Given the description of an element on the screen output the (x, y) to click on. 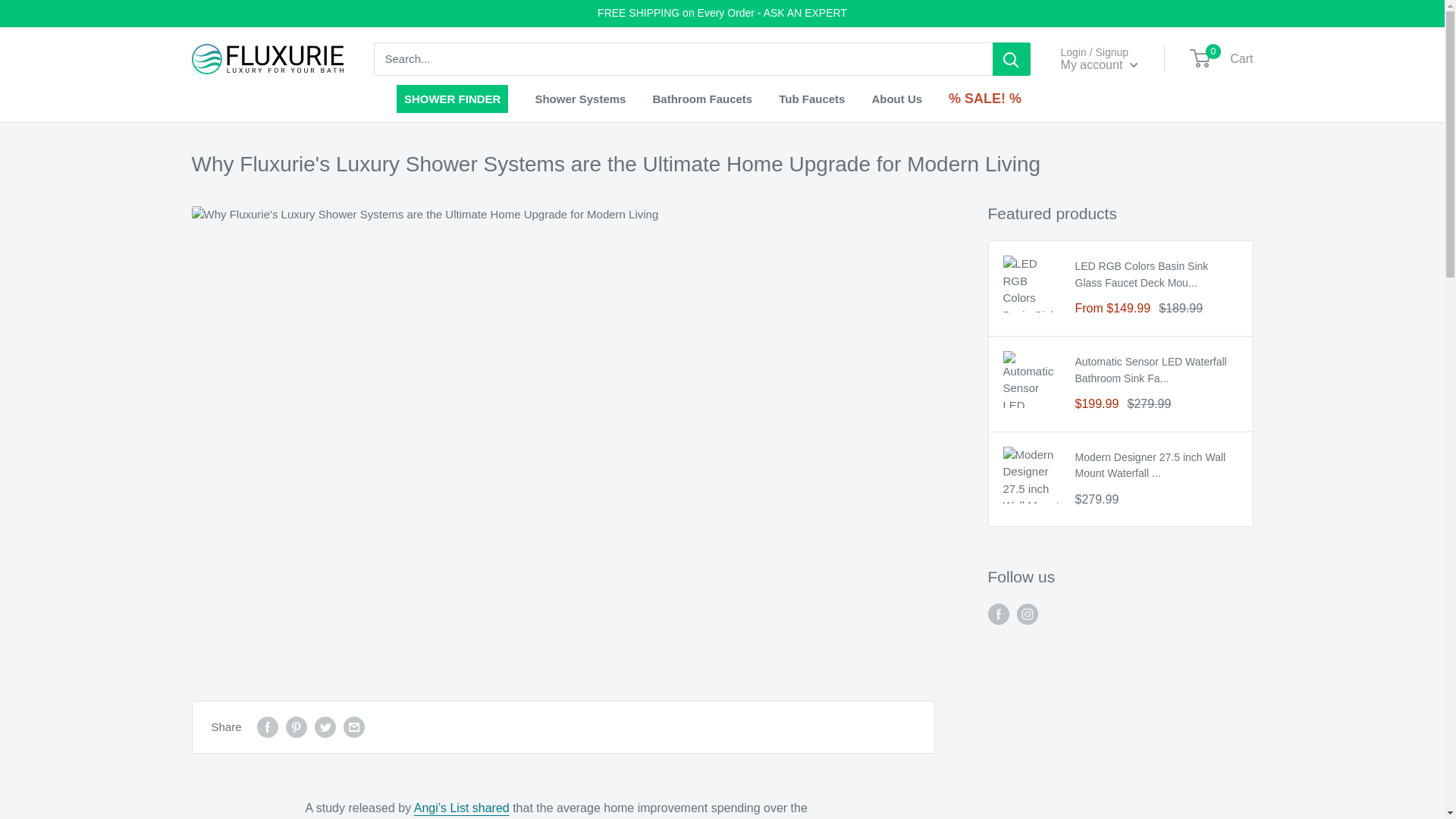
Shower Systems (580, 99)
FREE SHIPPING on Every Order - ASK AN EXPERT (721, 13)
Tub Faucets (811, 99)
FLUXURIE.COM (266, 59)
About Us (895, 99)
Bathroom Faucets (1222, 58)
My account (702, 99)
SHOWER FINDER (1099, 65)
